Given the description of an element on the screen output the (x, y) to click on. 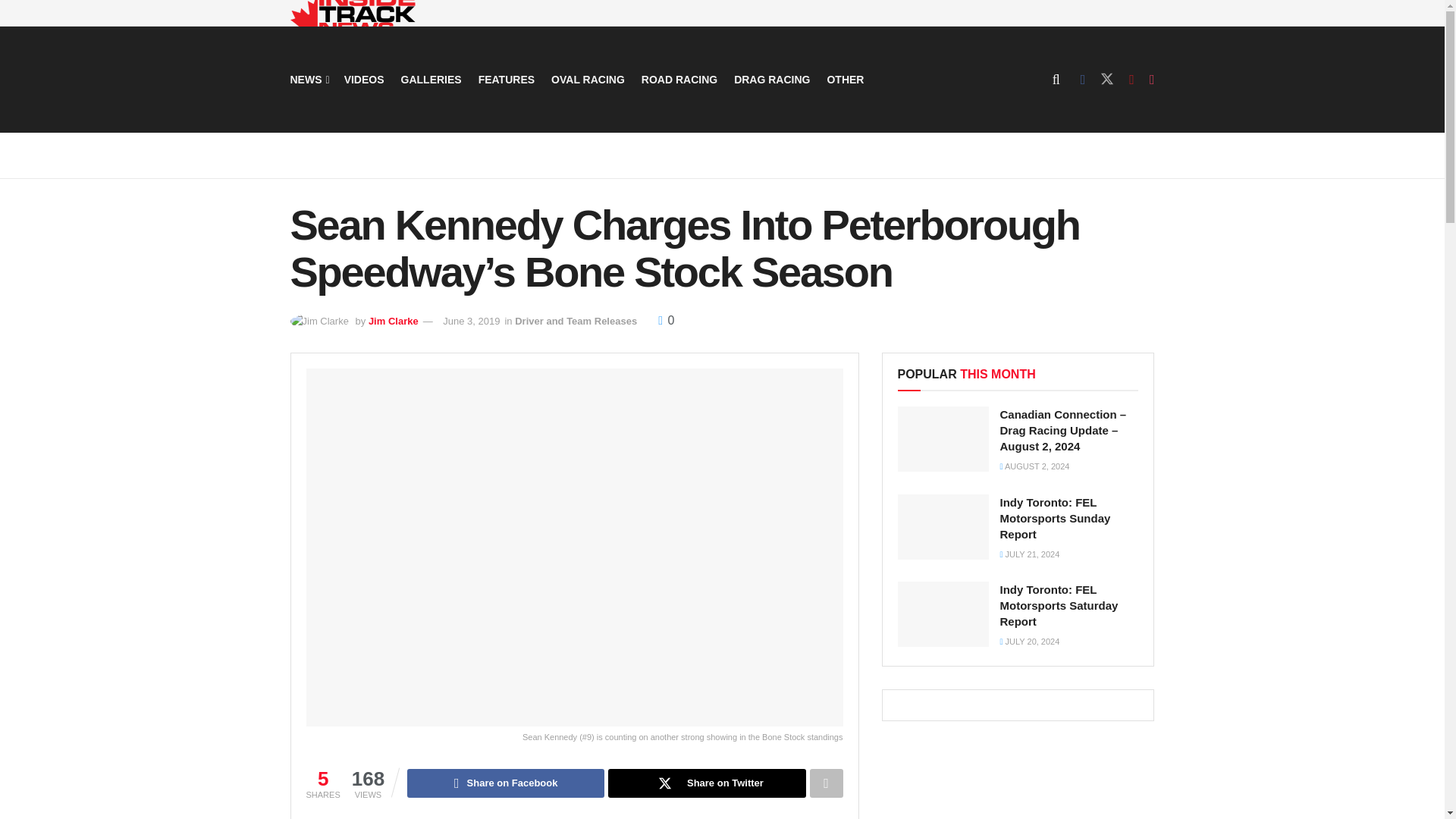
NEWS (307, 79)
ROAD RACING (679, 79)
DRAG RACING (771, 79)
VIDEOS (363, 79)
FEATURES (506, 79)
OTHER (845, 79)
OVAL RACING (587, 79)
GALLERIES (431, 79)
